Given the description of an element on the screen output the (x, y) to click on. 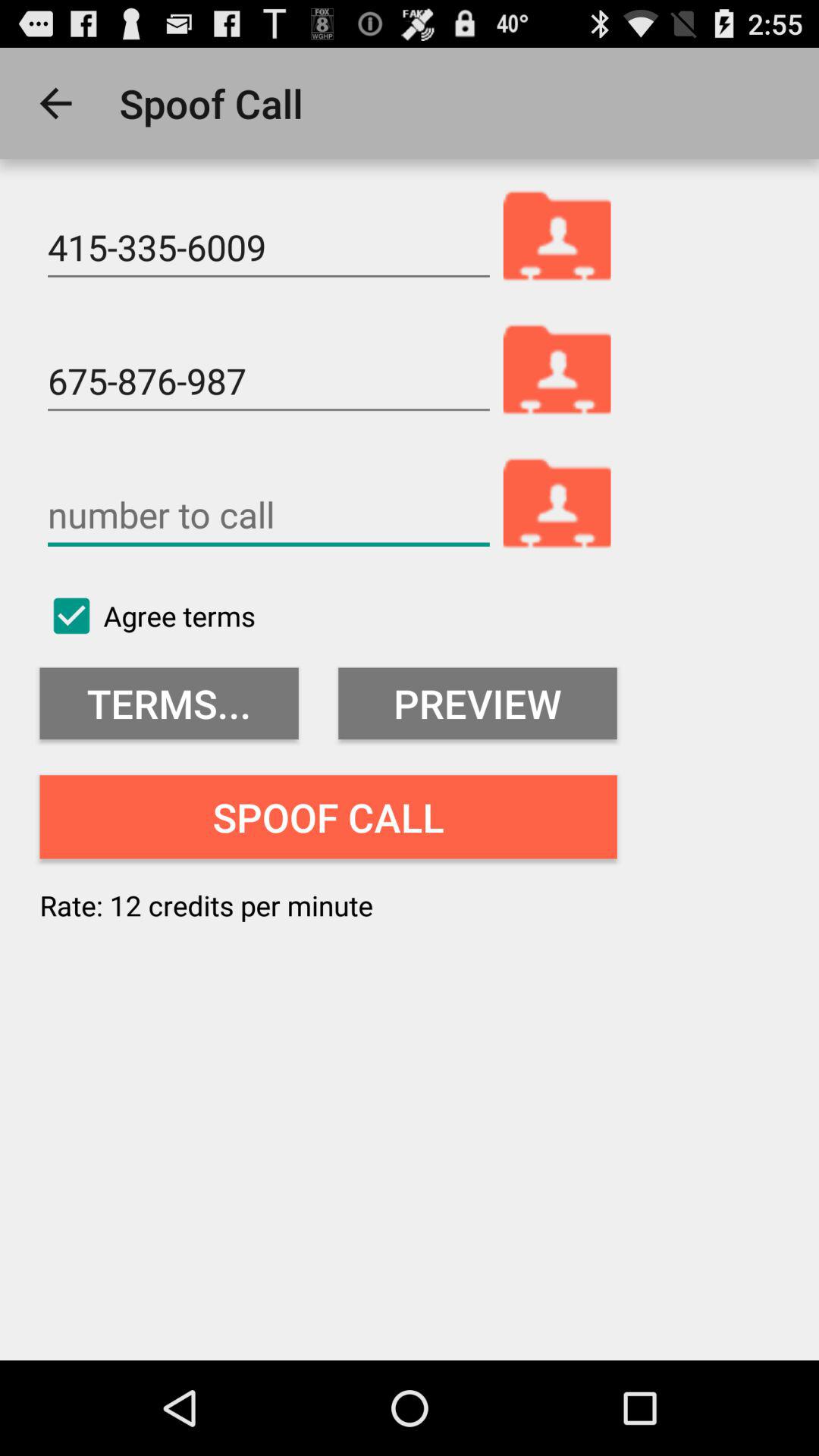
turn off agree terms (147, 615)
